Given the description of an element on the screen output the (x, y) to click on. 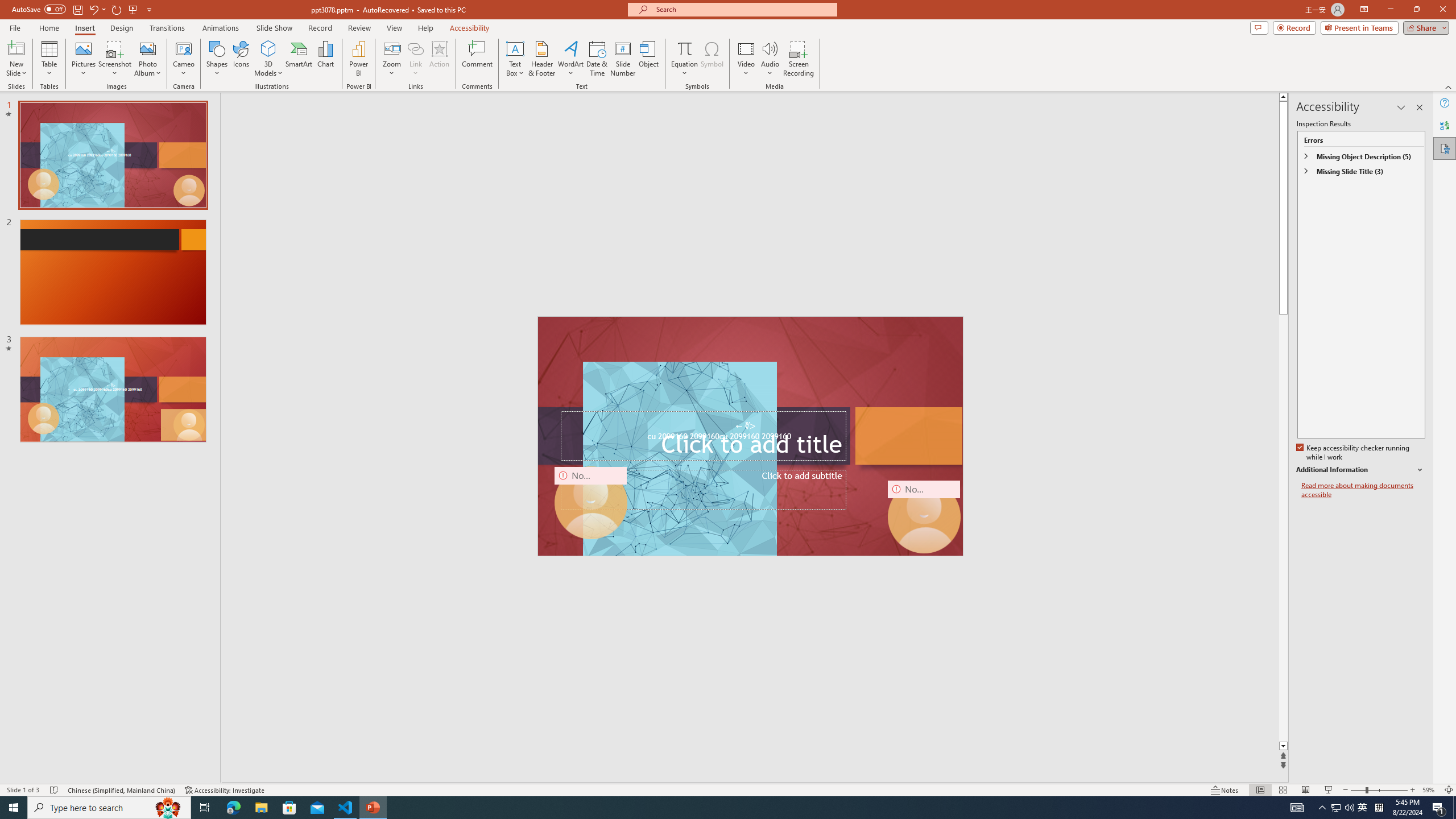
3D Models (268, 48)
Screenshot (114, 58)
3D Models (268, 58)
Video (745, 58)
